Given the description of an element on the screen output the (x, y) to click on. 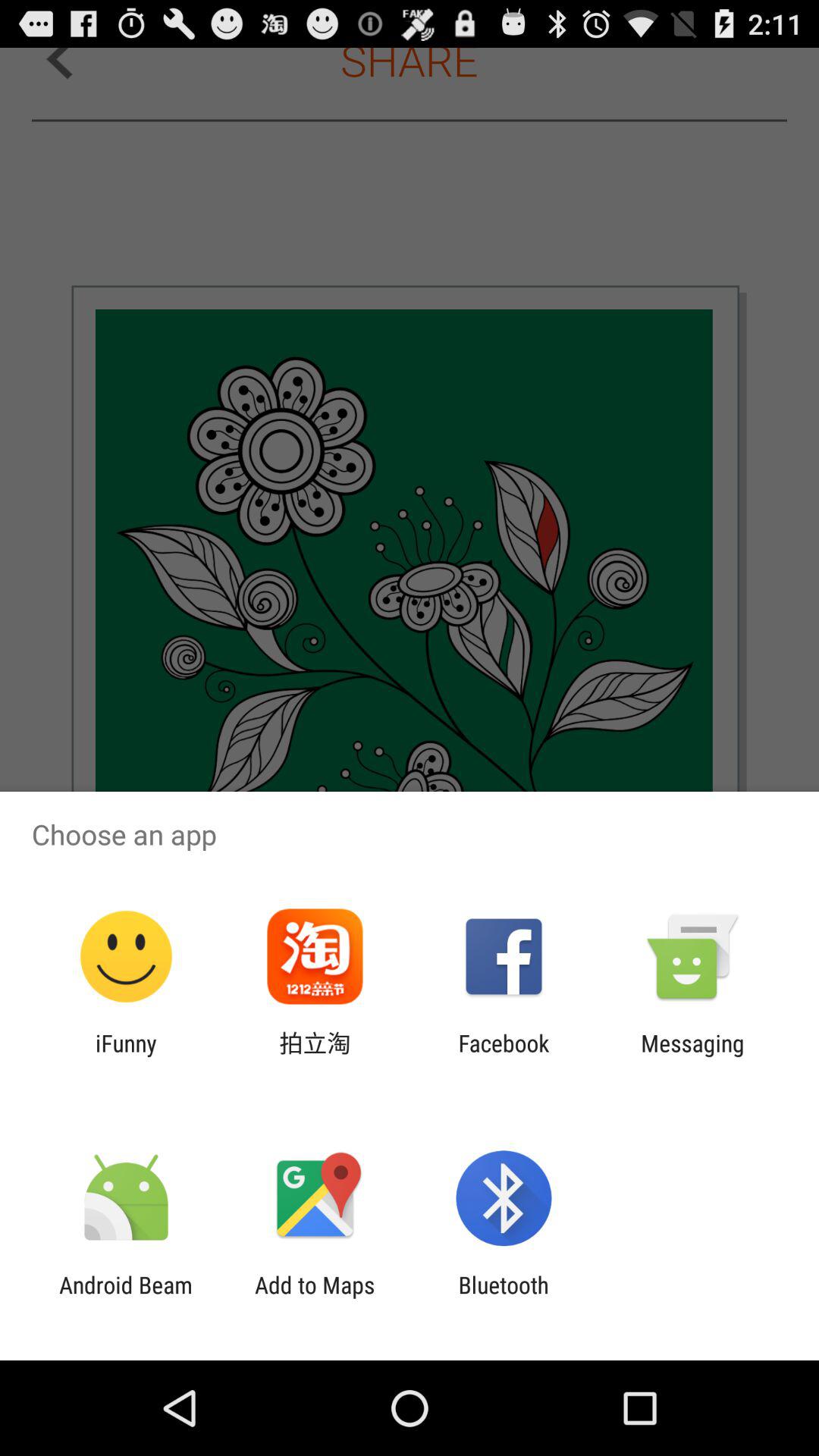
select the icon next to the facebook (692, 1056)
